Given the description of an element on the screen output the (x, y) to click on. 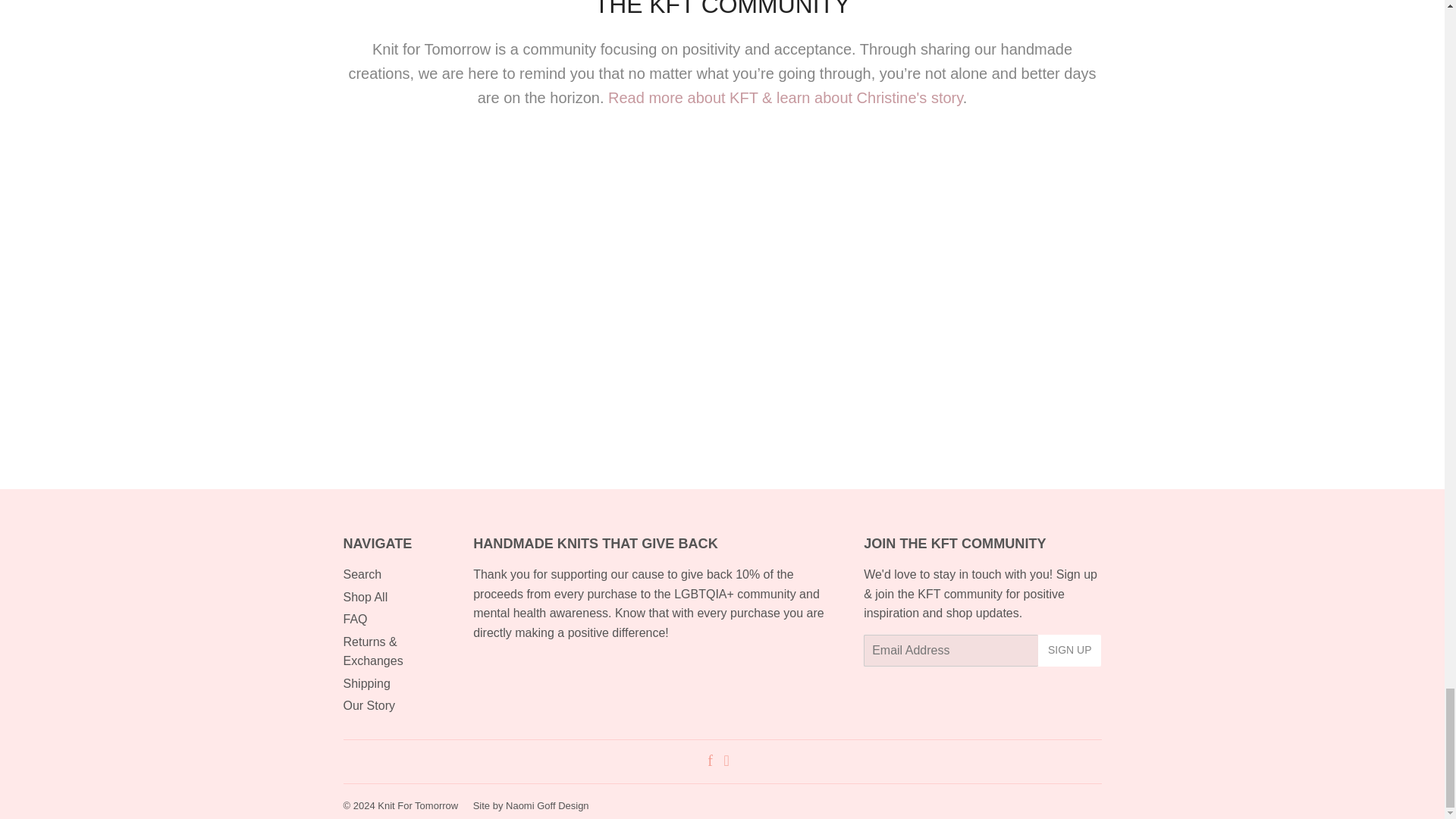
ABOUT US (785, 97)
